Given the description of an element on the screen output the (x, y) to click on. 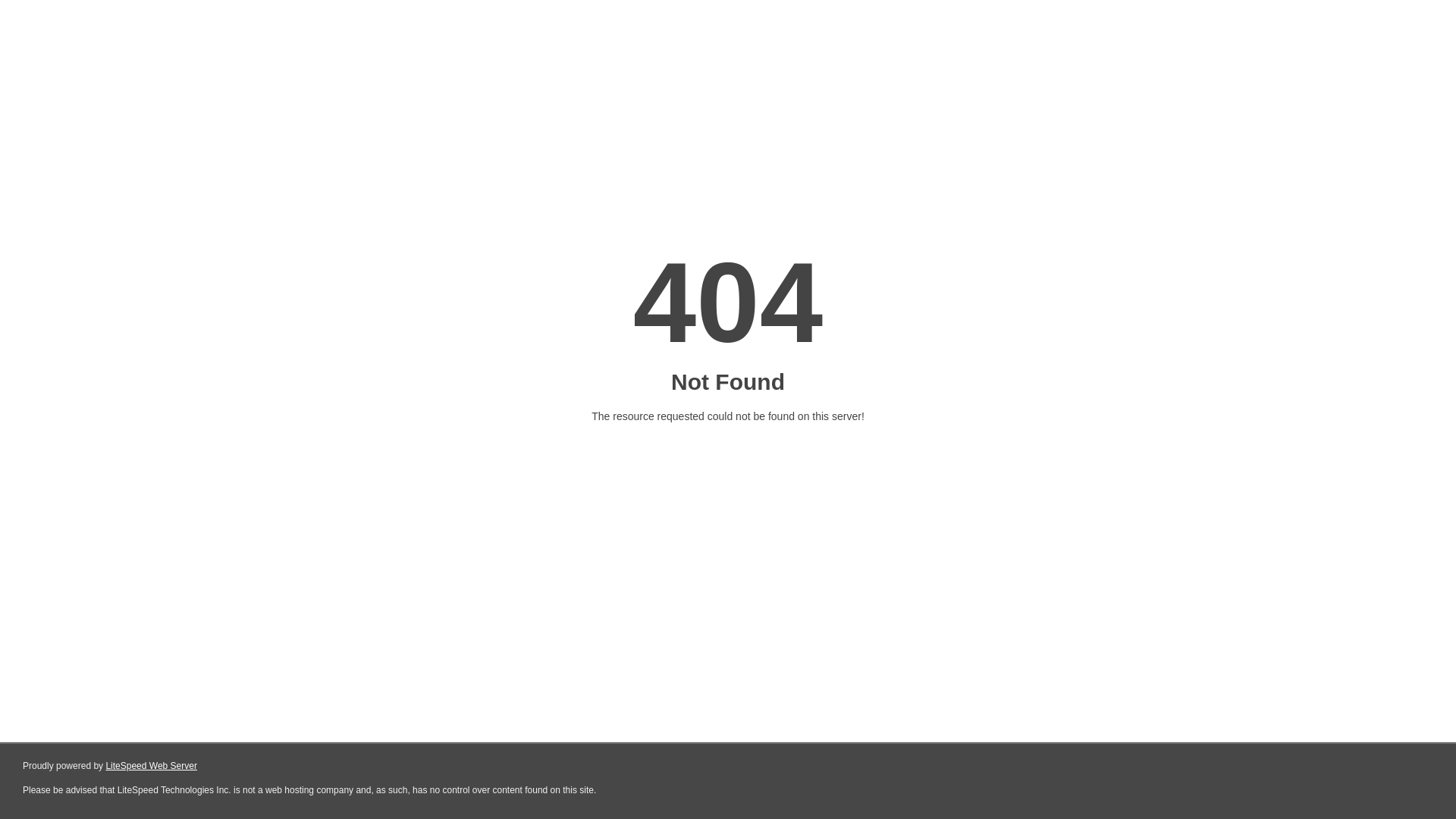
LiteSpeed Web Server (150, 765)
